Given the description of an element on the screen output the (x, y) to click on. 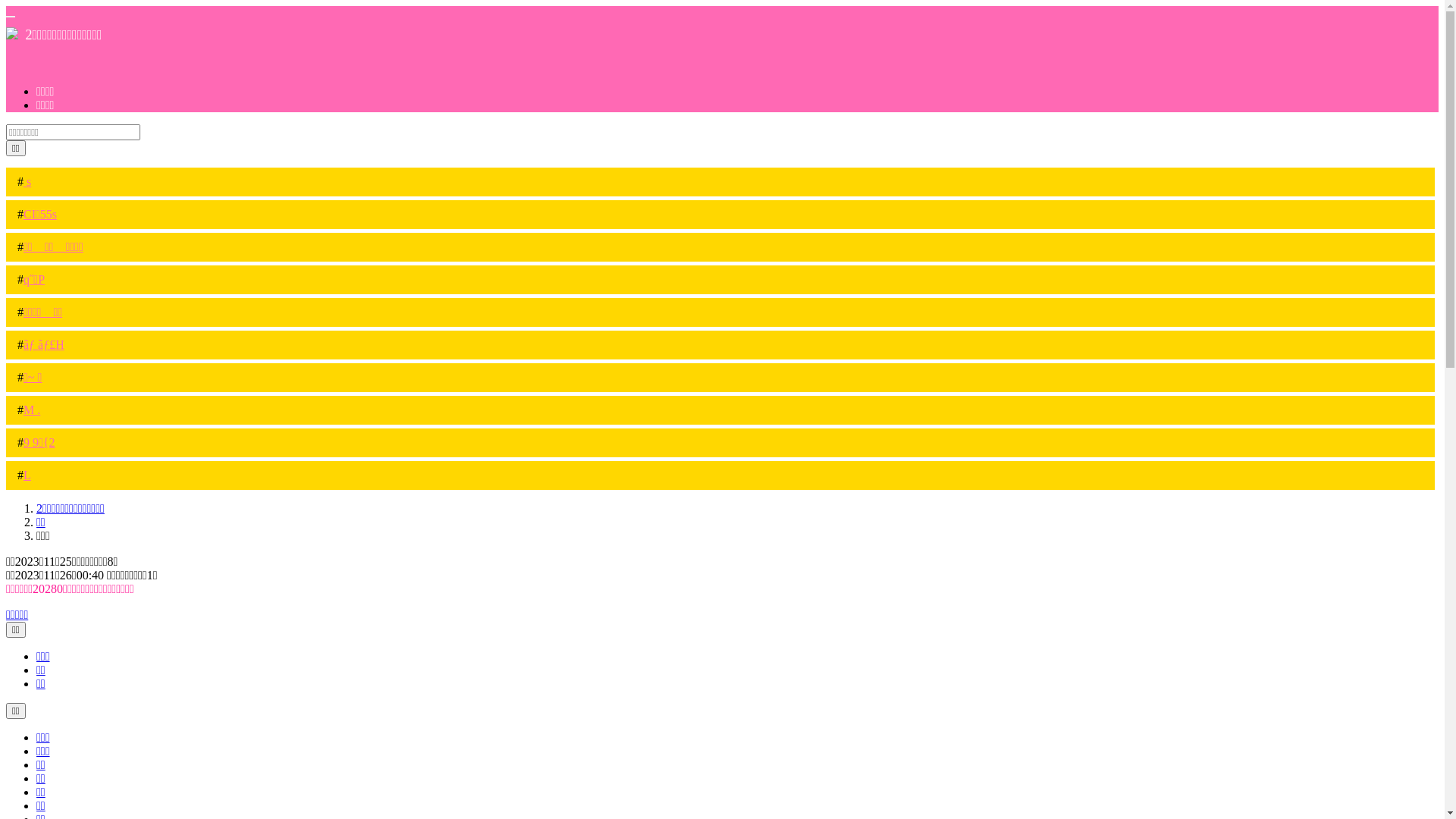
L Element type: text (27, 474)
M . Element type: text (31, 409)
s Element type: text (27, 181)
CI 55s Element type: text (39, 213)
